Given the description of an element on the screen output the (x, y) to click on. 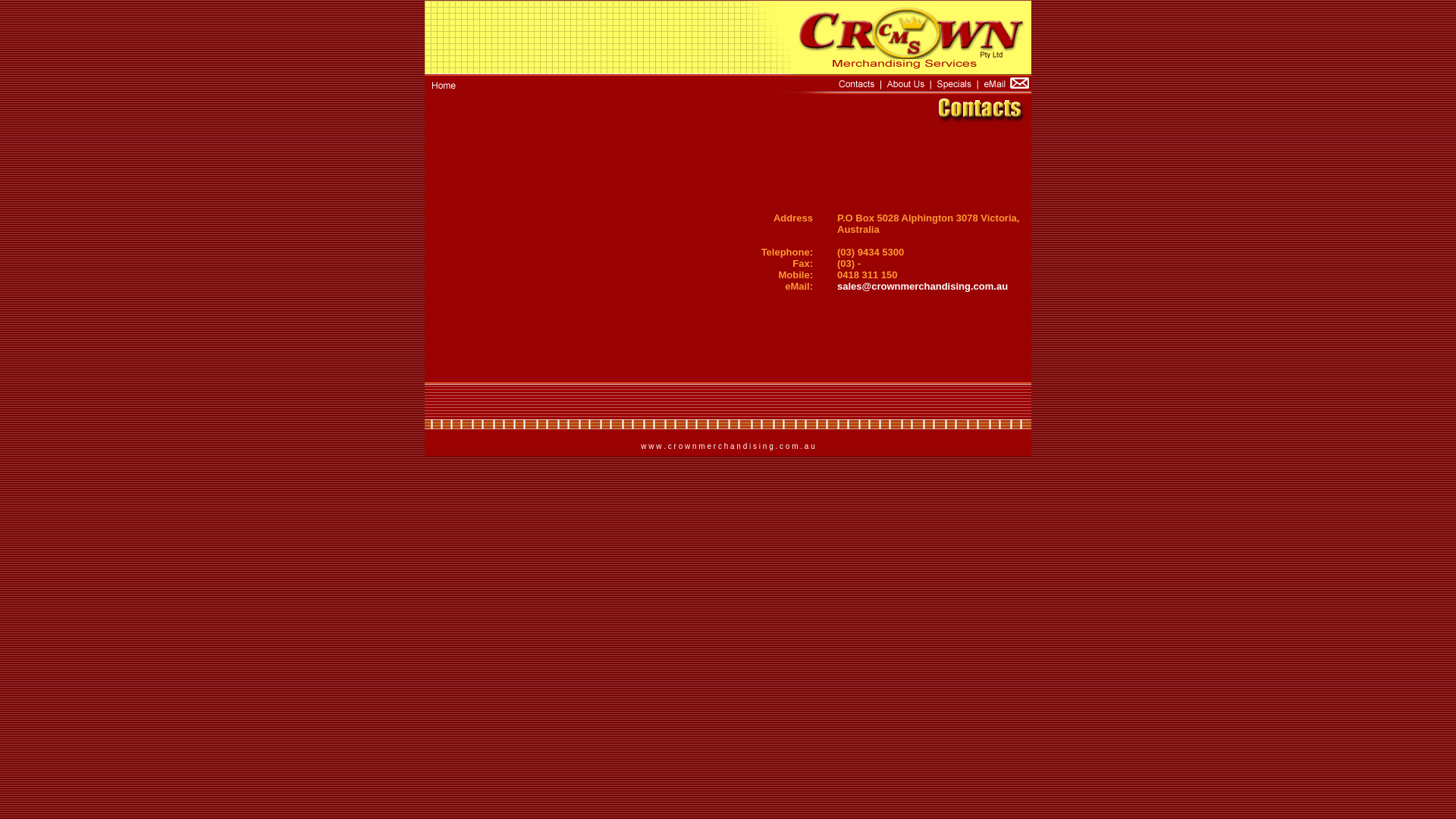
sales@crownmerchandising.com.au Element type: text (922, 285)
